Given the description of an element on the screen output the (x, y) to click on. 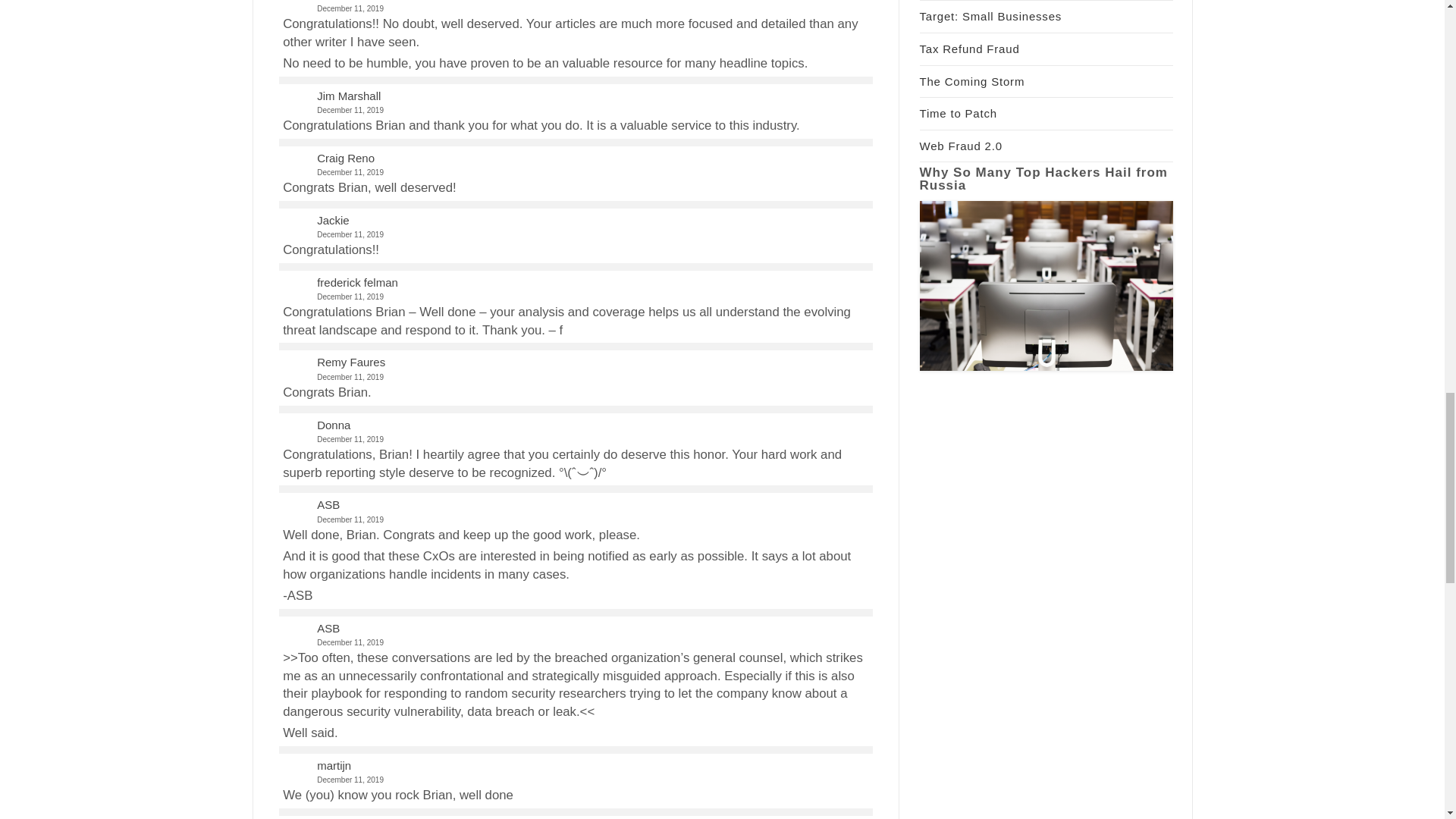
December 11, 2019 (574, 234)
December 11, 2019 (574, 110)
December 11, 2019 (574, 8)
December 11, 2019 (574, 642)
Jim Marshall (348, 95)
December 11, 2019 (574, 519)
December 11, 2019 (574, 377)
ASB (328, 504)
December 11, 2019 (574, 779)
December 11, 2019 (574, 172)
